Given the description of an element on the screen output the (x, y) to click on. 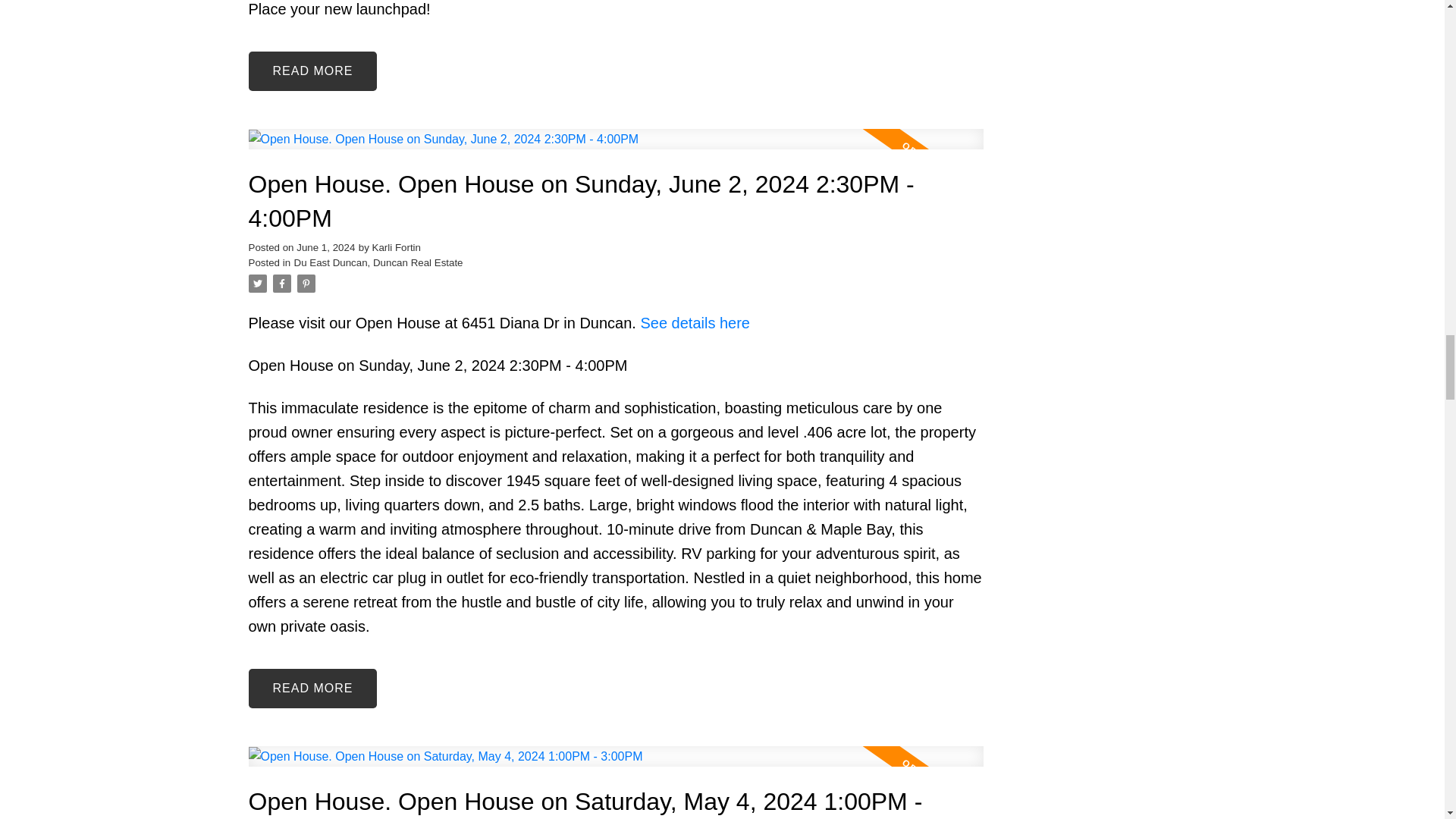
Read full post (616, 765)
Read full post (616, 147)
